Given the description of an element on the screen output the (x, y) to click on. 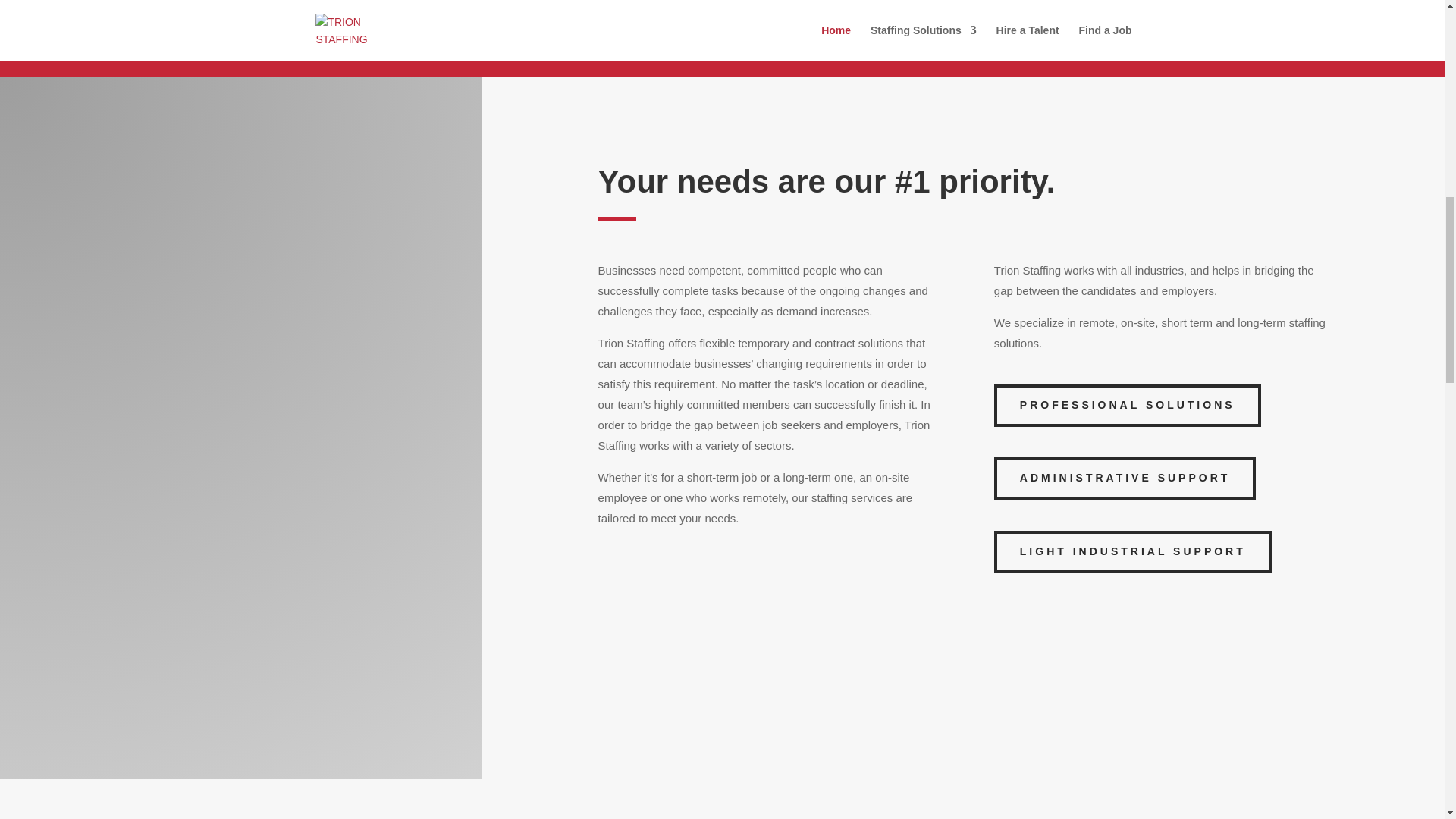
PROFESSIONAL SOLUTIONS (1127, 405)
LIGHT INDUSTRIAL SUPPORT (1132, 551)
ADMINISTRATIVE SUPPORT (1125, 478)
